Given the description of an element on the screen output the (x, y) to click on. 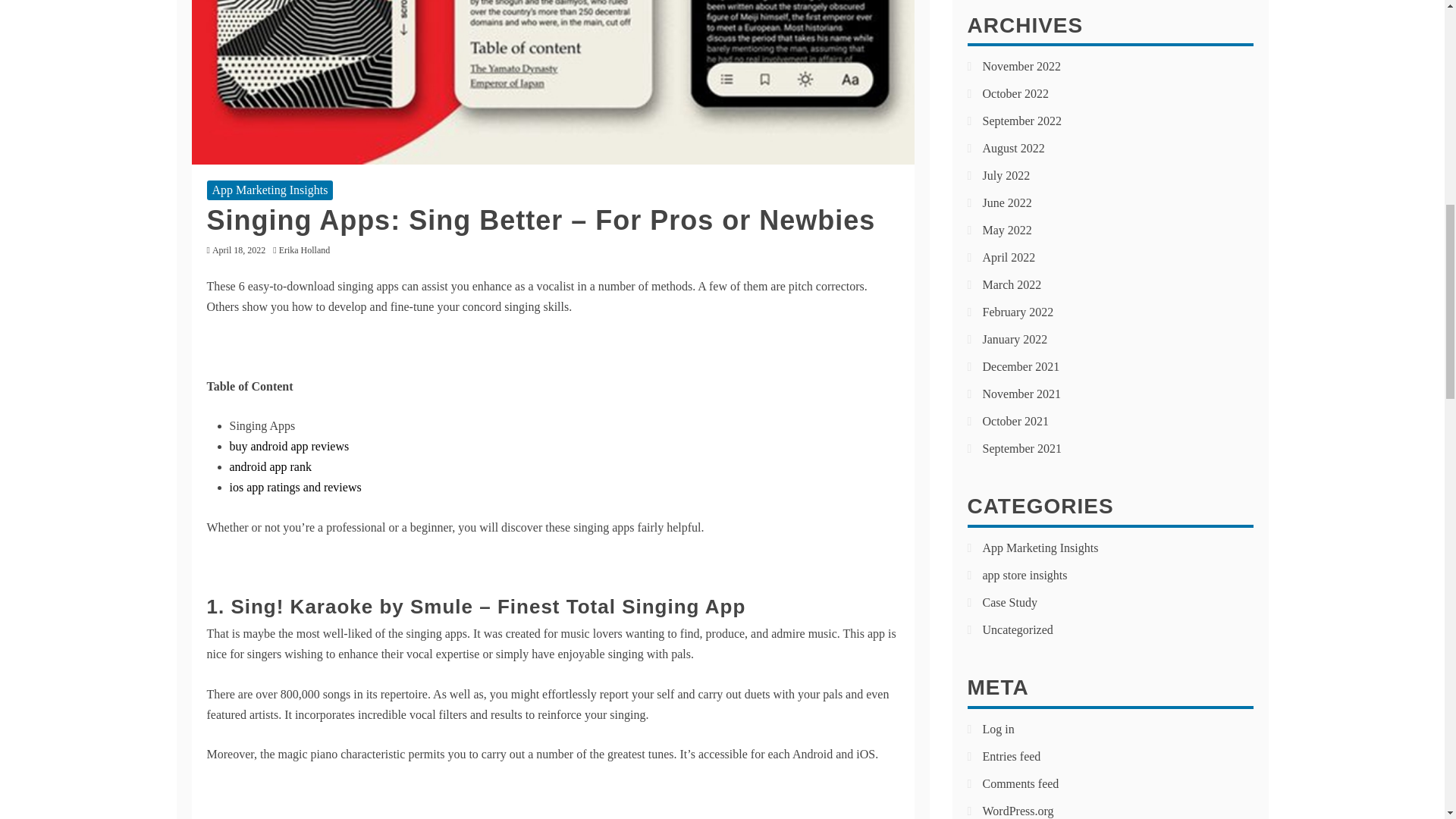
App Marketing Insights (269, 189)
ios app ratings and reviews (294, 486)
android app rank (269, 466)
Erika Holland (308, 249)
April 18, 2022 (238, 249)
buy android app reviews (288, 445)
